Given the description of an element on the screen output the (x, y) to click on. 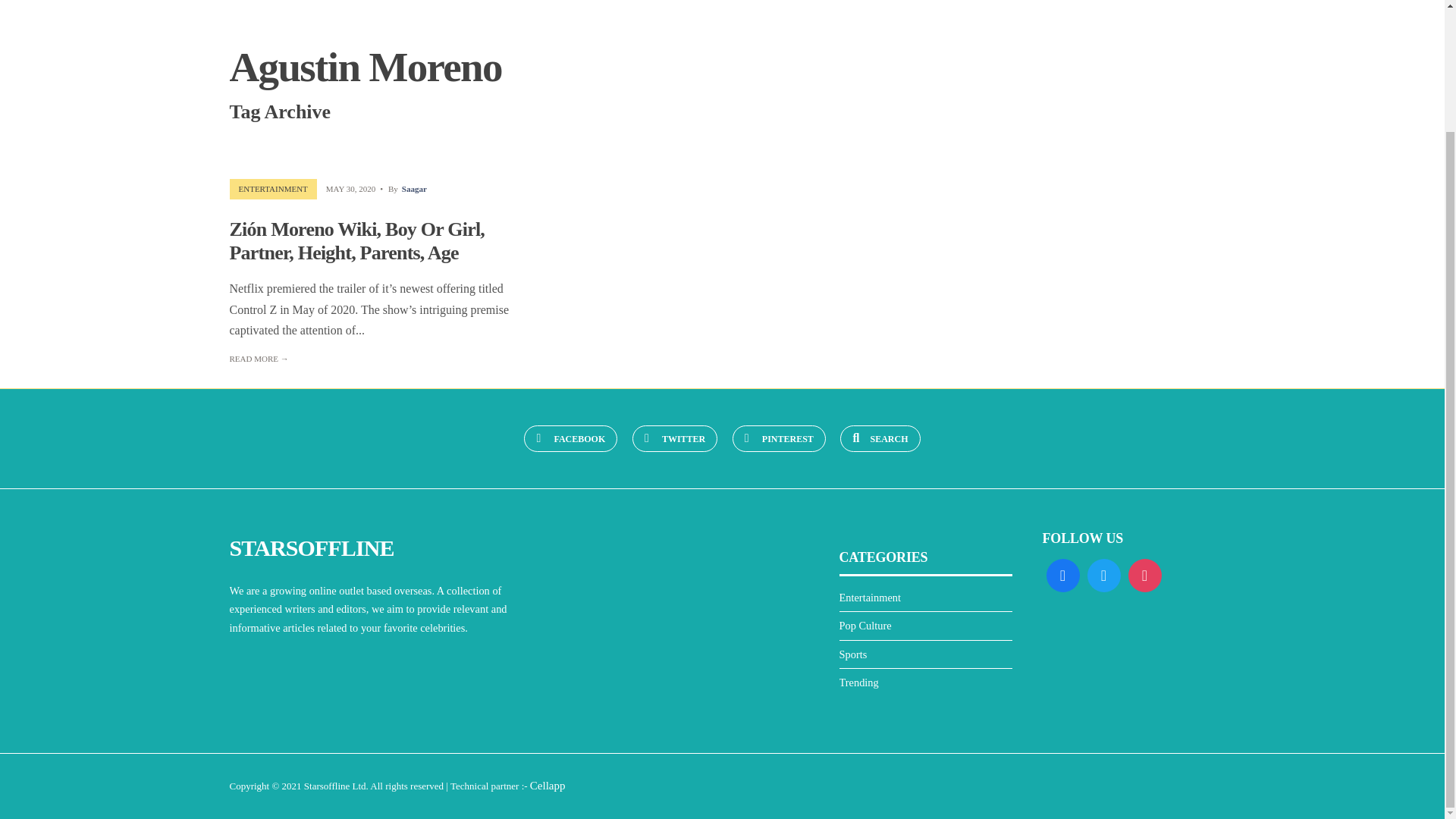
Saagar (413, 188)
Pinterest (778, 438)
Trending (857, 682)
TWITTER (674, 438)
Pop Culture (864, 625)
STARSOFFLINE (310, 547)
Starsoffline (326, 785)
Cellapp (547, 785)
Entertainment (869, 597)
Posts by Saagar (413, 188)
FACEBOOK (570, 438)
Sports (852, 654)
ENTERTAINMENT (272, 188)
SEARCH (880, 438)
PINTEREST (778, 438)
